Given the description of an element on the screen output the (x, y) to click on. 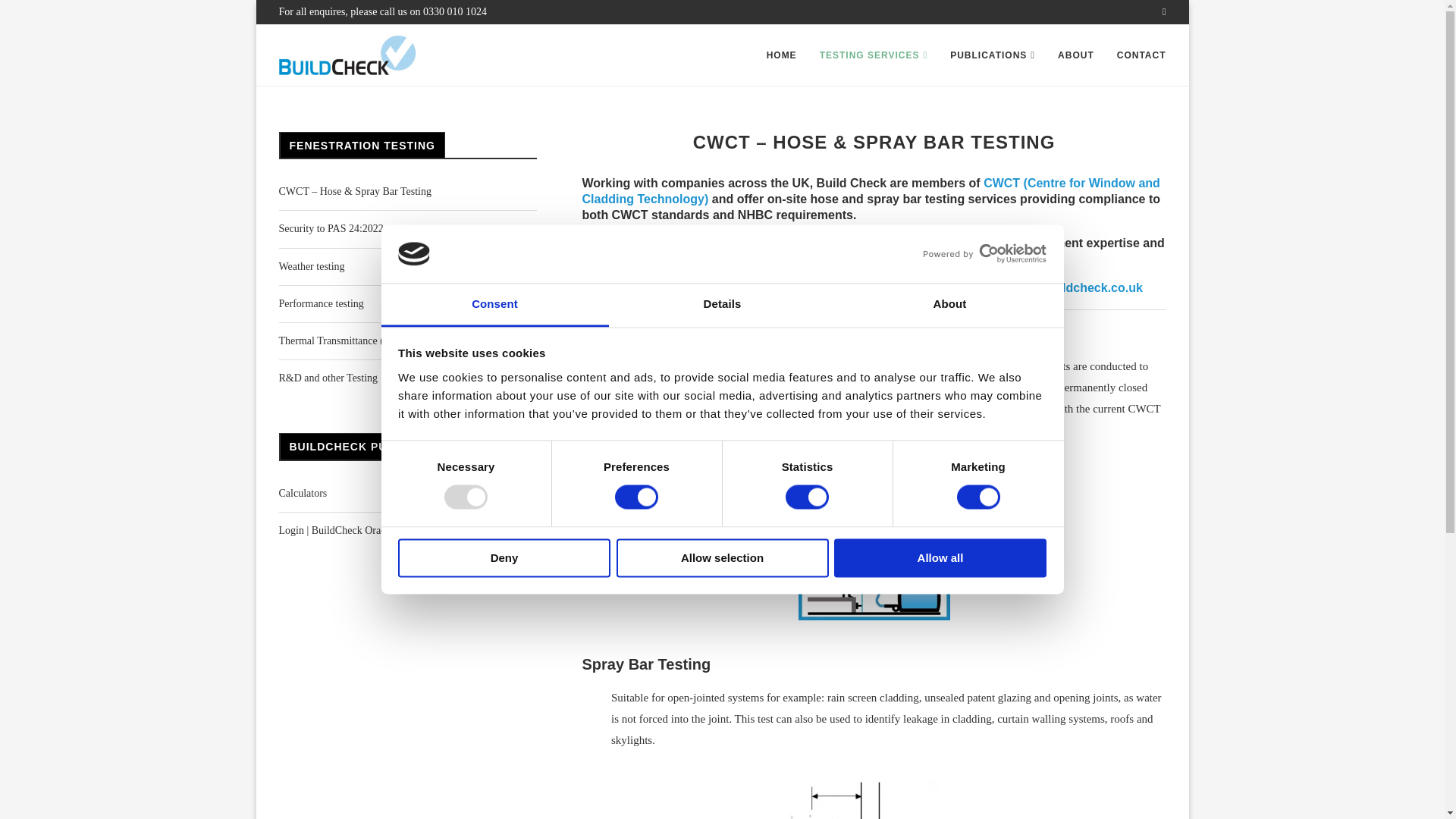
Consent (494, 304)
Deny (503, 557)
Details (721, 304)
Allow selection (721, 557)
Allow all (940, 557)
About (948, 304)
